Given the description of an element on the screen output the (x, y) to click on. 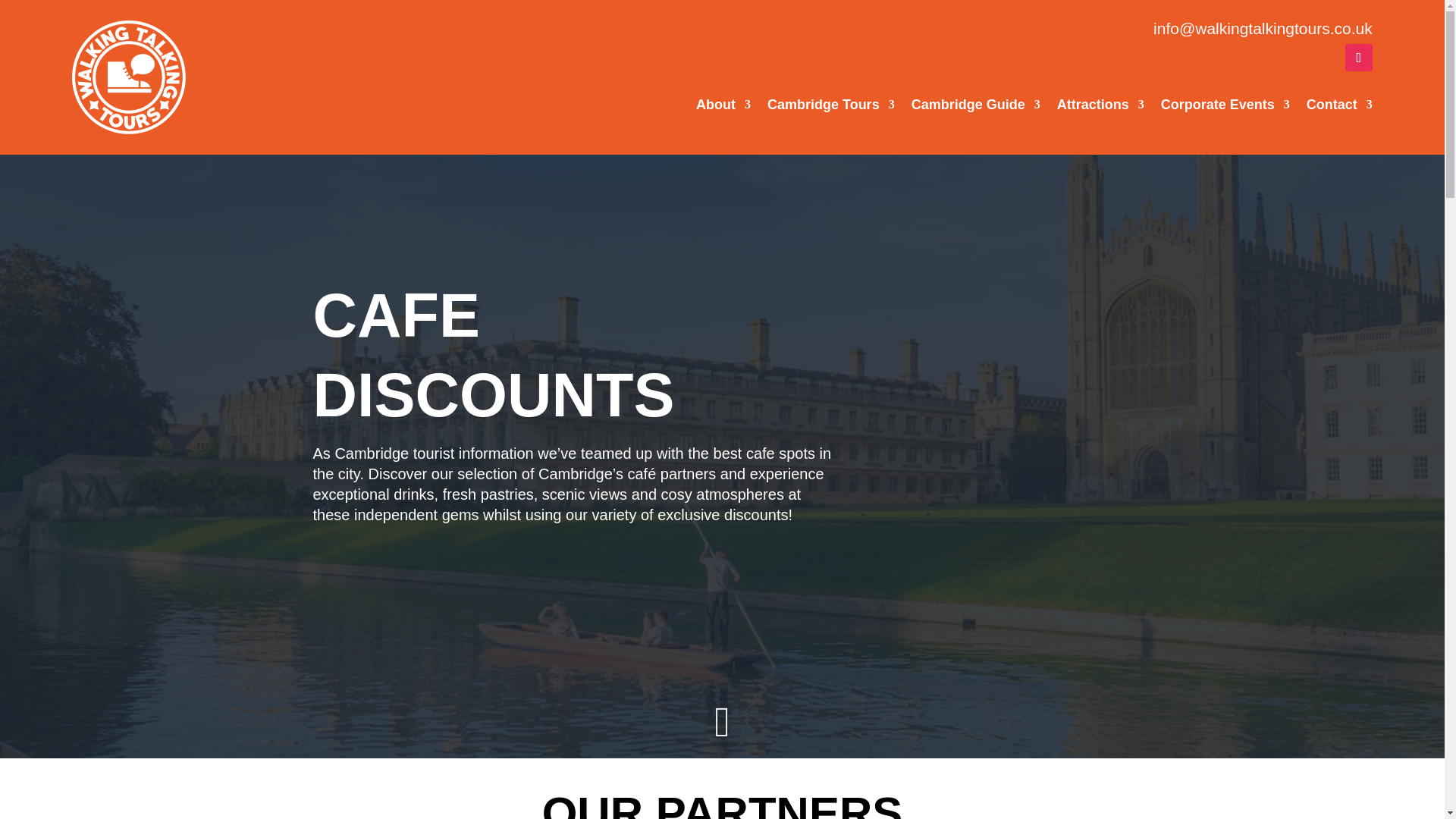
Contact (1339, 107)
Cambridge Guide (976, 107)
Cambridge Tours (831, 107)
Follow on Instagram (1359, 57)
Corporate Events (1225, 107)
Attractions (1100, 107)
About (723, 107)
